Given the description of an element on the screen output the (x, y) to click on. 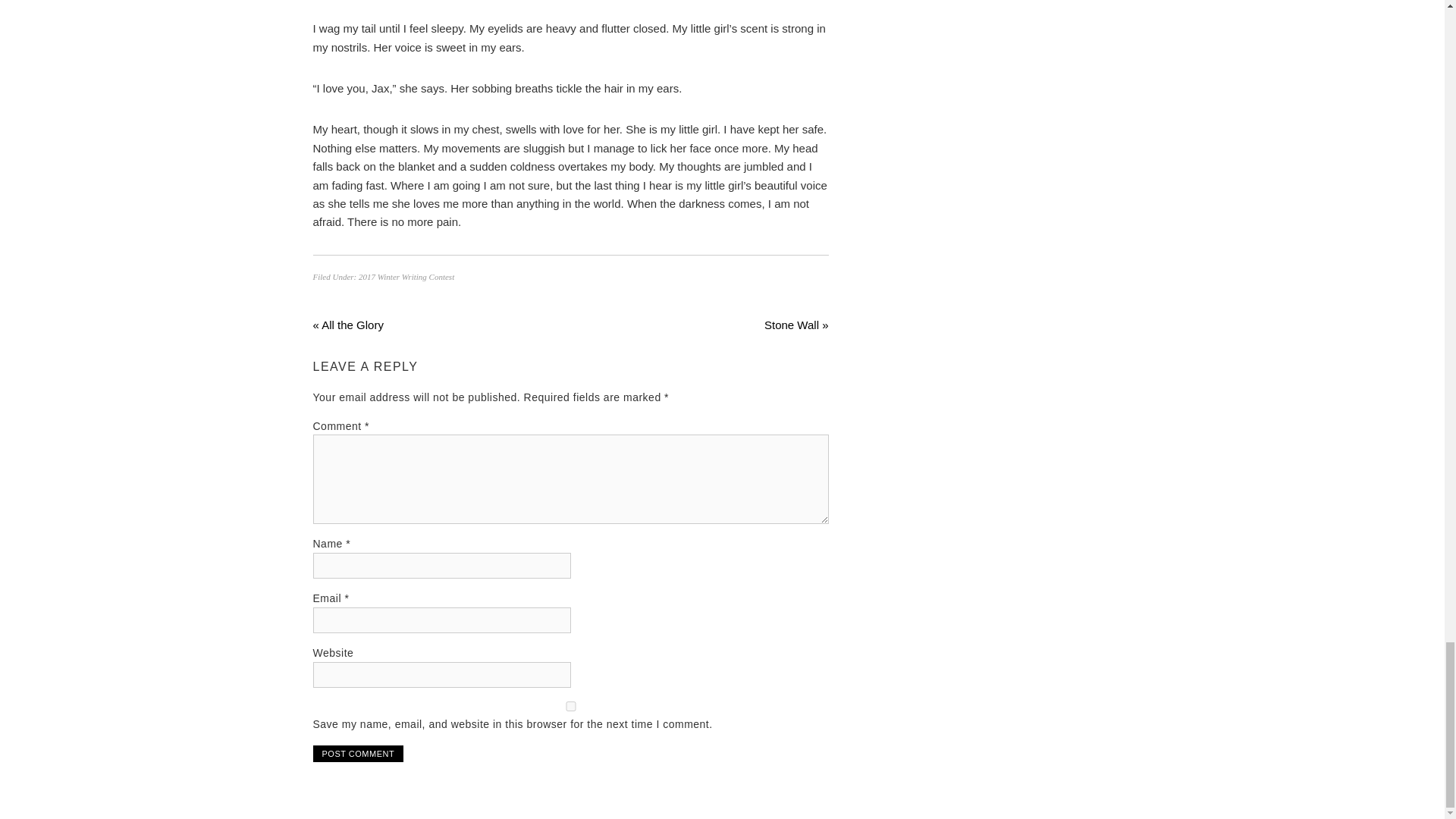
Post Comment (358, 753)
yes (570, 706)
2017 Winter Writing Contest (406, 276)
Post Comment (358, 753)
